Given the description of an element on the screen output the (x, y) to click on. 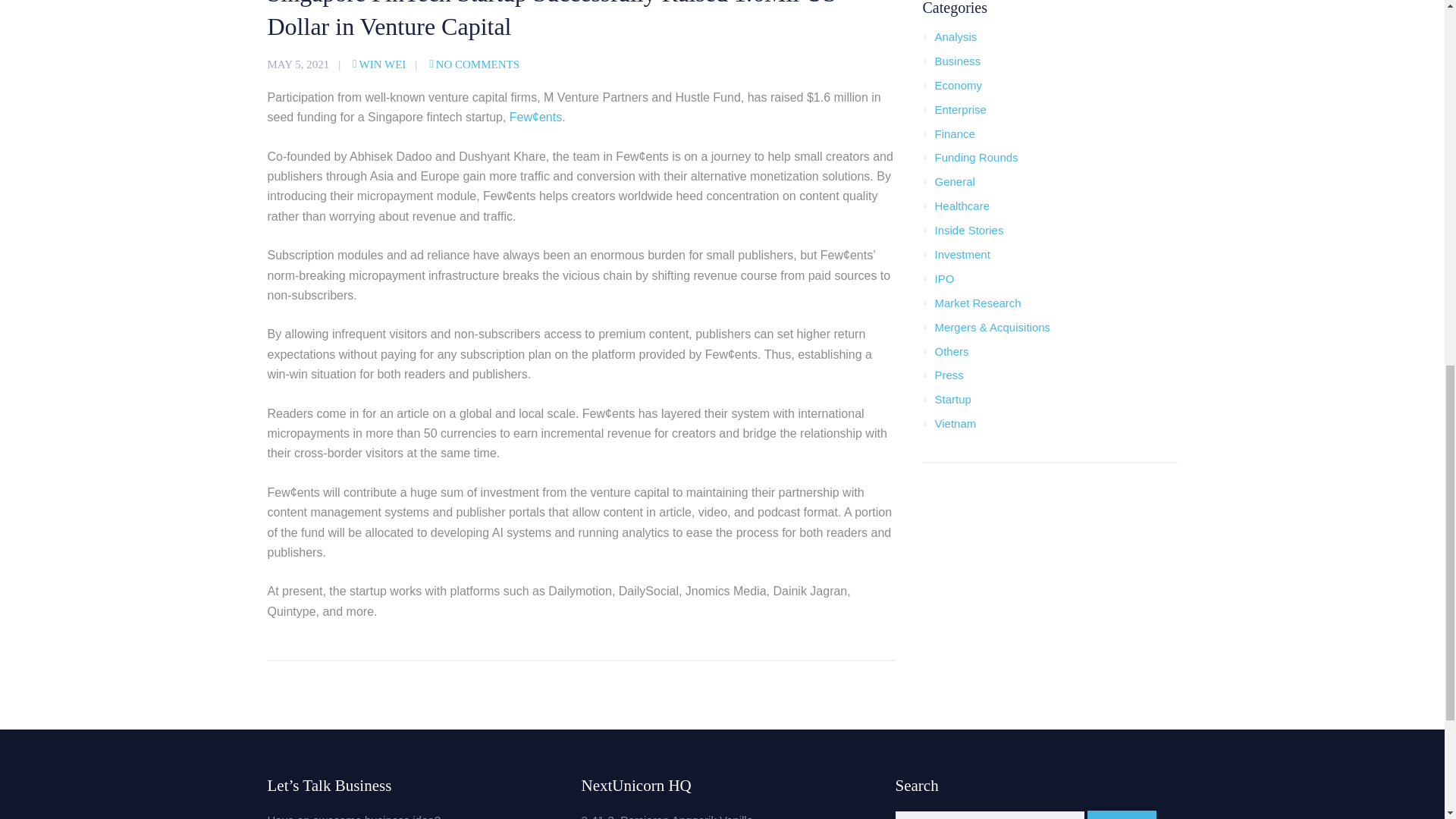
Finance (954, 133)
Search (1121, 814)
General (954, 181)
NO COMMENTS (474, 64)
Economy (957, 84)
Inside Stories (968, 229)
Business (956, 60)
WIN WEI (379, 64)
Healthcare (962, 205)
